Given the description of an element on the screen output the (x, y) to click on. 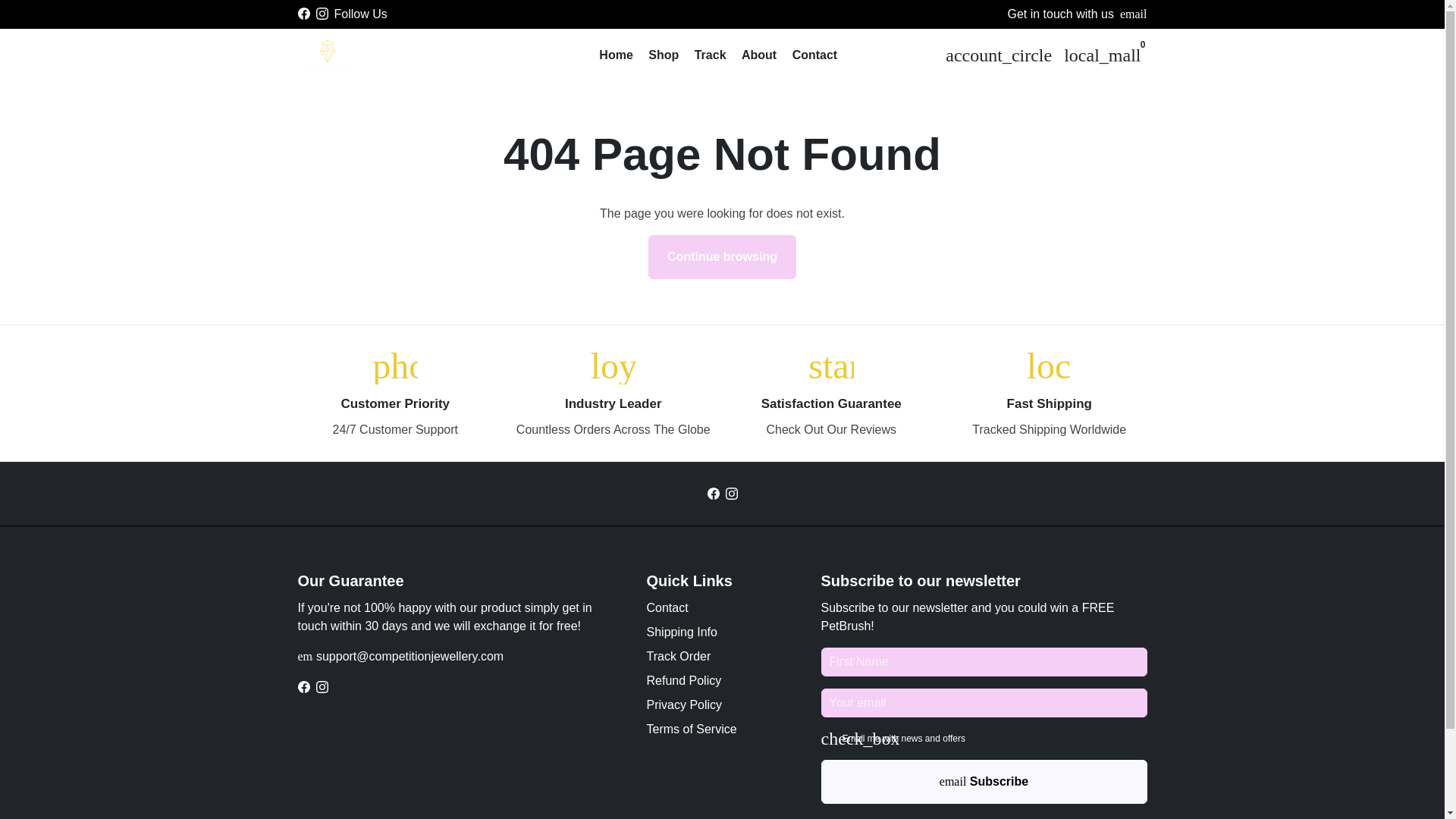
Home (615, 54)
Track (710, 54)
email (1133, 13)
Glow Up Competition Jewellery on Instagram (730, 492)
Cart (1102, 54)
About (759, 54)
Contact (815, 54)
Log In (998, 54)
Glow Up Competition Jewellery on Facebook (712, 492)
Glow Up Competition Jewellery on Instagram (321, 13)
Shop (663, 54)
Glow Up Competition Jewellery on Facebook (302, 13)
Glow Up Competition Jewellery on Facebook (302, 686)
Glow Up Competition Jewellery on Instagram (321, 686)
